Given the description of an element on the screen output the (x, y) to click on. 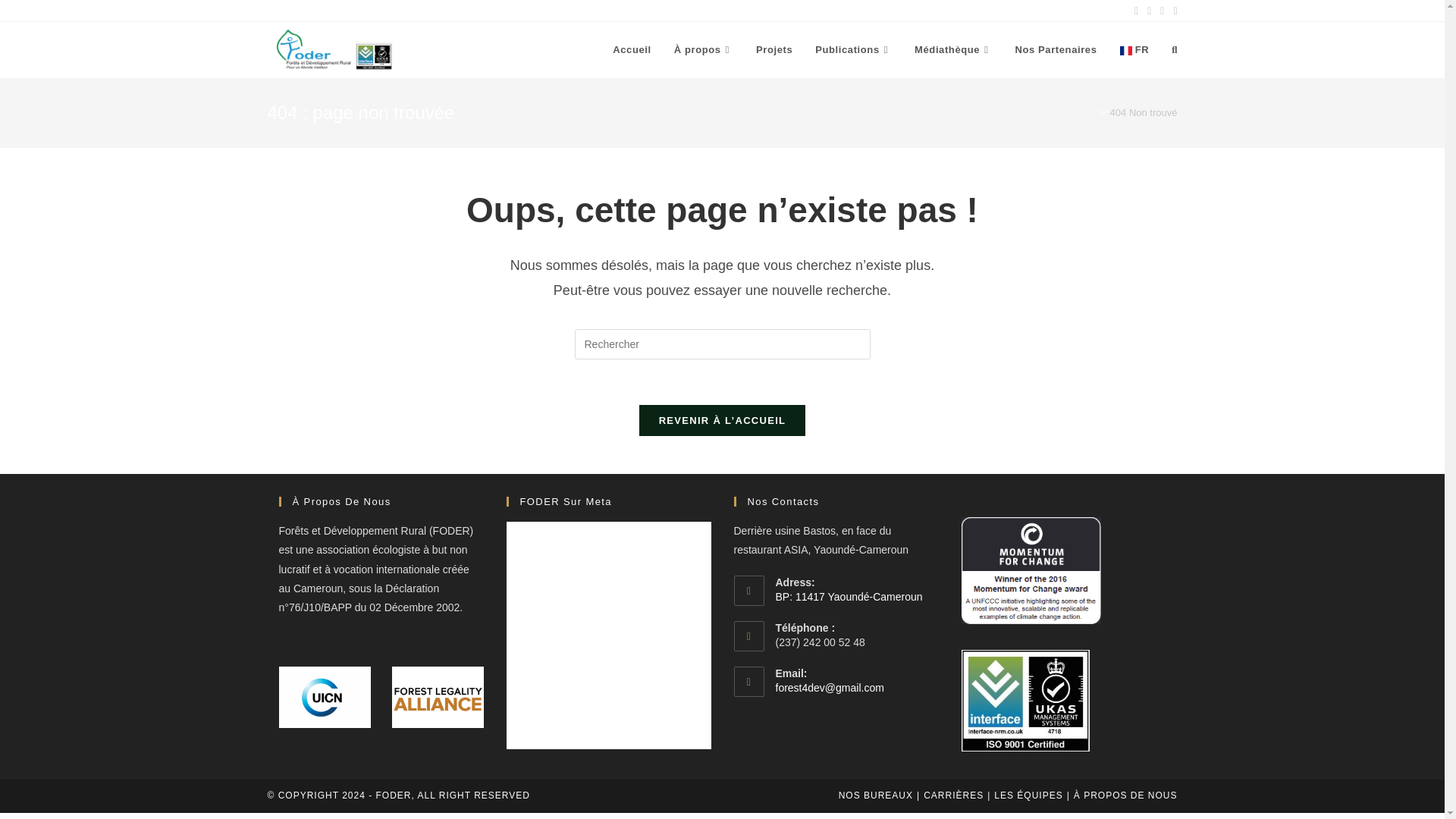
French (1134, 49)
Nos Partenaires (1056, 49)
Accueil (631, 49)
Projets (773, 49)
FR (1134, 49)
NOS BUREAUX (875, 795)
FODER Sur Meta (565, 501)
Publications (852, 49)
